Given the description of an element on the screen output the (x, y) to click on. 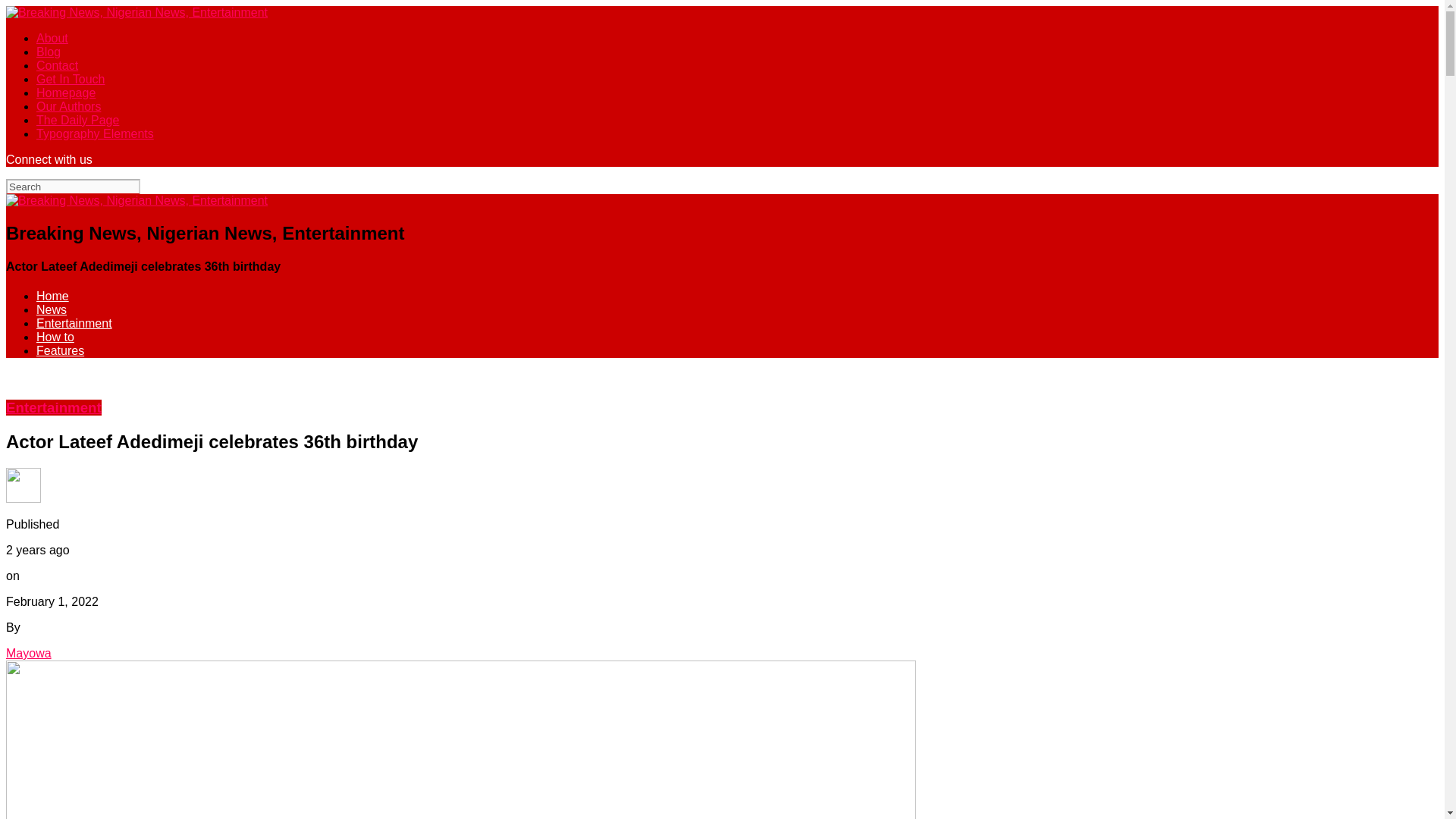
Homepage (66, 92)
Posts by Mayowa (27, 653)
Home (52, 295)
The Daily Page (77, 119)
Get In Touch (70, 78)
About (52, 38)
Blog (48, 51)
Typography Elements (95, 133)
Entertainment (74, 323)
Our Authors (68, 106)
Entertainment (53, 407)
News (51, 309)
Search (72, 186)
How to (55, 336)
Contact (57, 65)
